Given the description of an element on the screen output the (x, y) to click on. 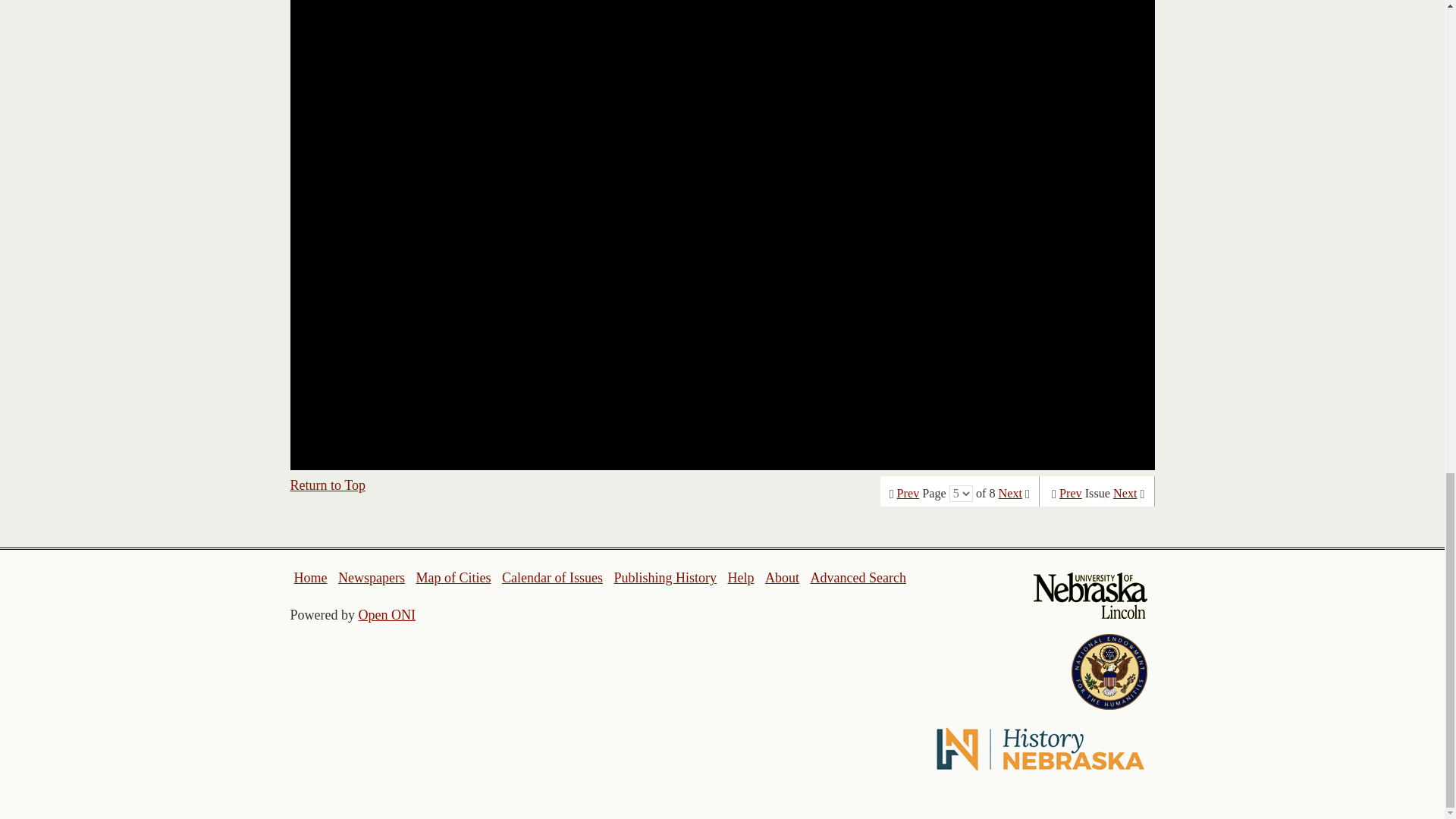
Next (1010, 493)
Calendar of Issues (552, 577)
Prev (908, 493)
Return to Top (327, 485)
Next (1125, 493)
Prev (1070, 493)
Newspapers (370, 577)
Open ONI (386, 614)
Map of Cities (452, 577)
Advanced Search (857, 577)
Home (310, 577)
Help (740, 577)
Publishing History (664, 577)
About (782, 577)
